Given the description of an element on the screen output the (x, y) to click on. 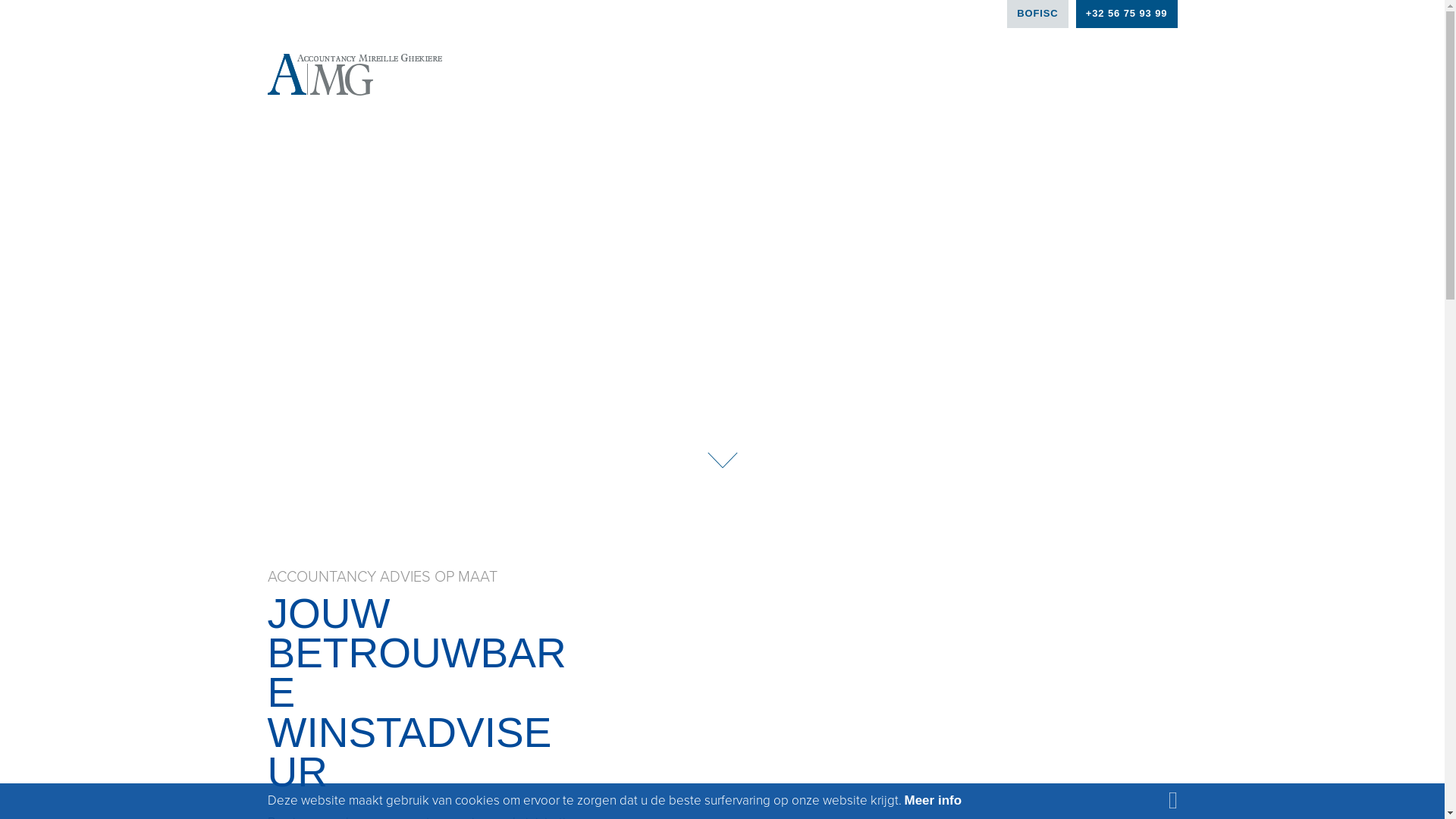
+32 56 75 93 99 Element type: text (1126, 14)
BOFISC Element type: text (1037, 14)
Meer info Element type: text (932, 800)
AMGACC Element type: text (353, 74)
